Given the description of an element on the screen output the (x, y) to click on. 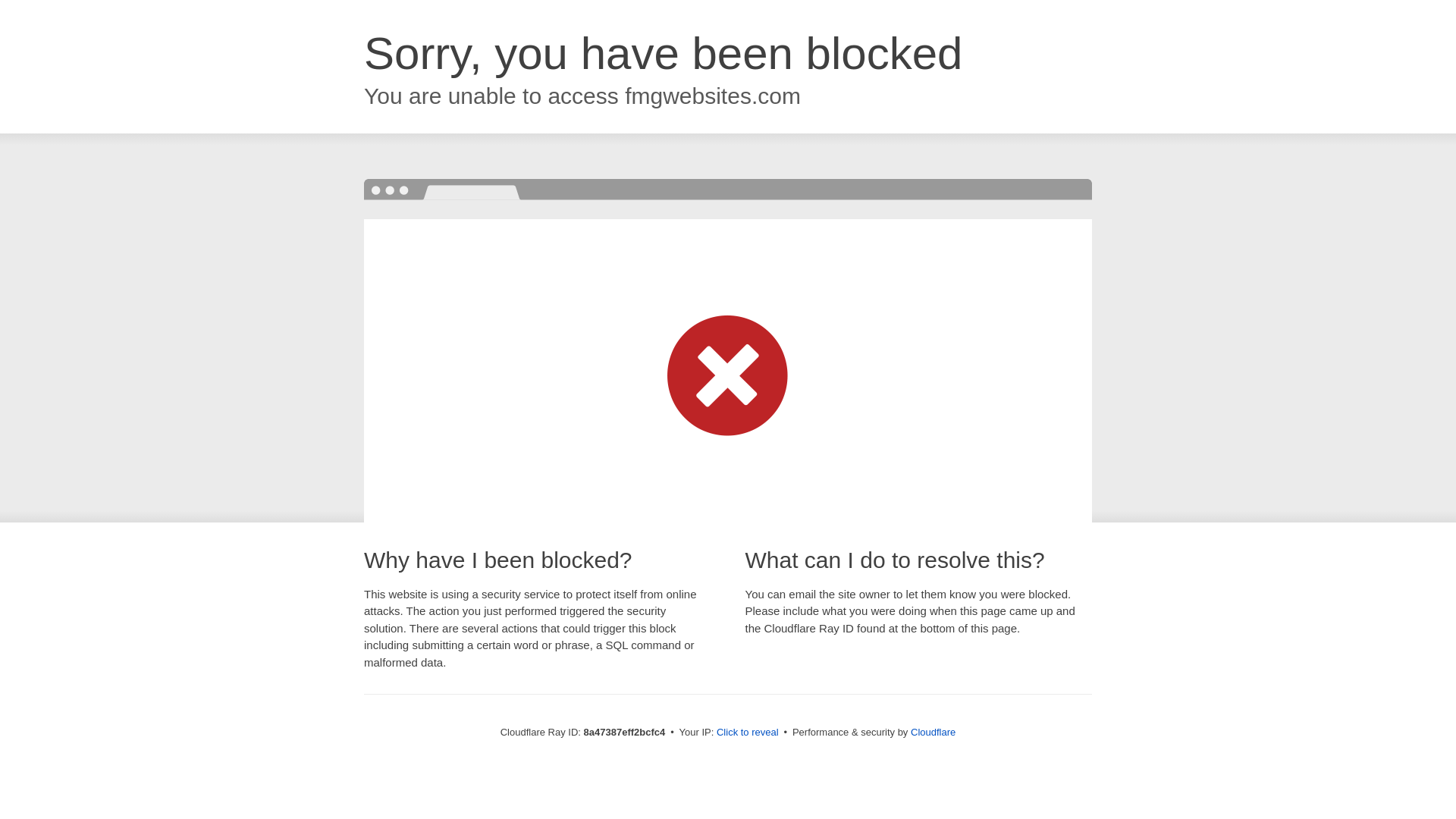
Click to reveal (747, 732)
Cloudflare (933, 731)
